Given the description of an element on the screen output the (x, y) to click on. 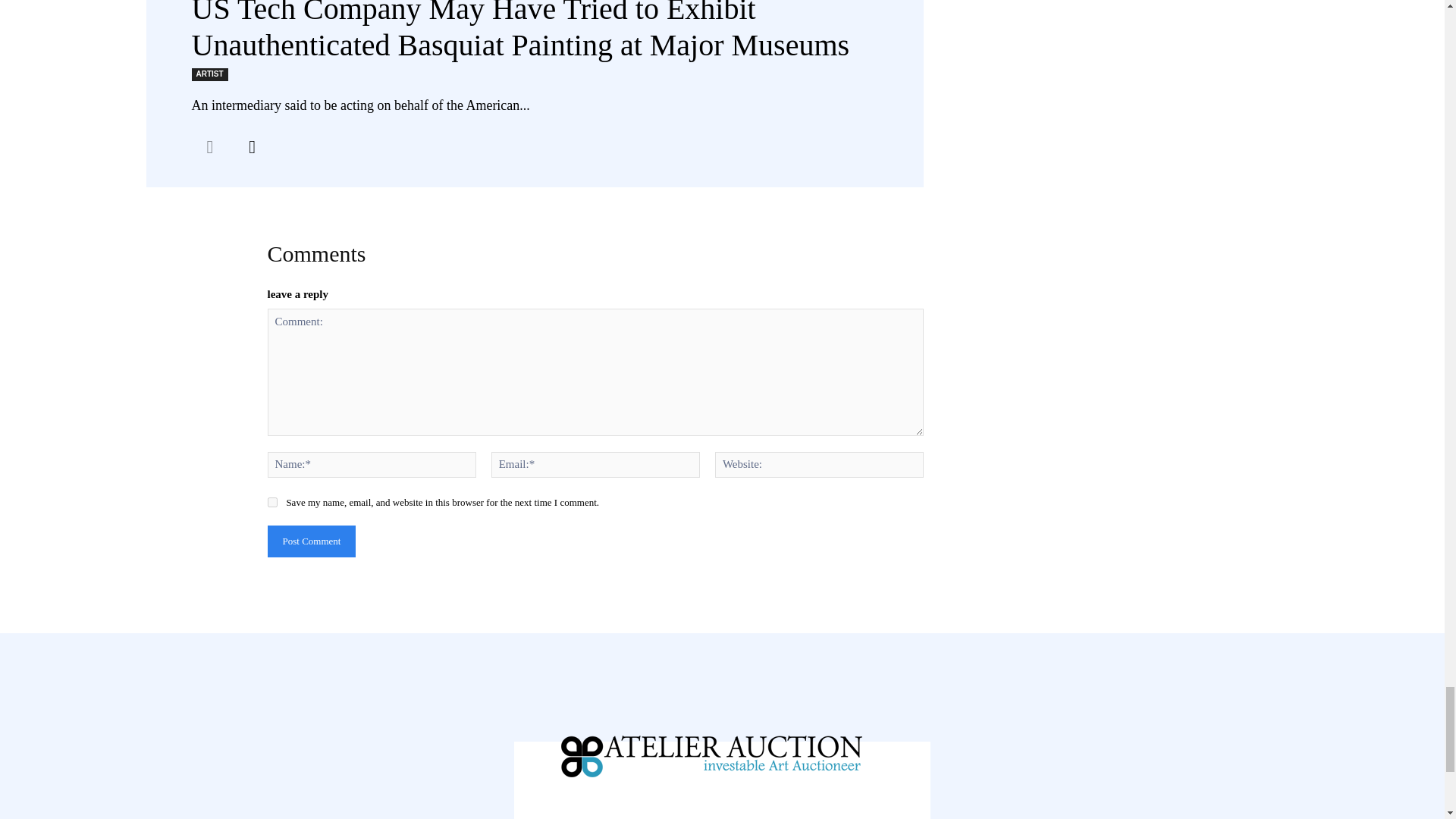
yes (271, 501)
Post Comment (310, 541)
